Given the description of an element on the screen output the (x, y) to click on. 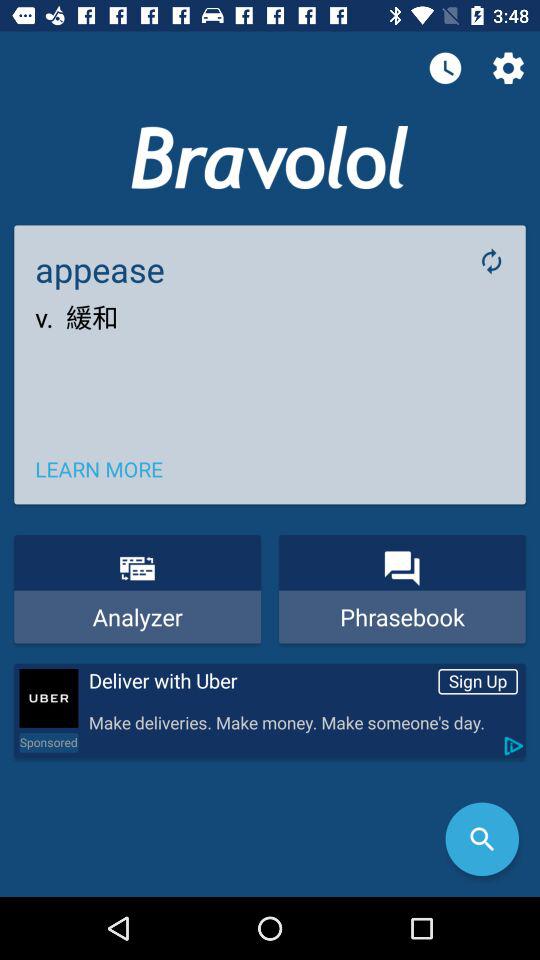
jump to the make deliveries make item (301, 723)
